Given the description of an element on the screen output the (x, y) to click on. 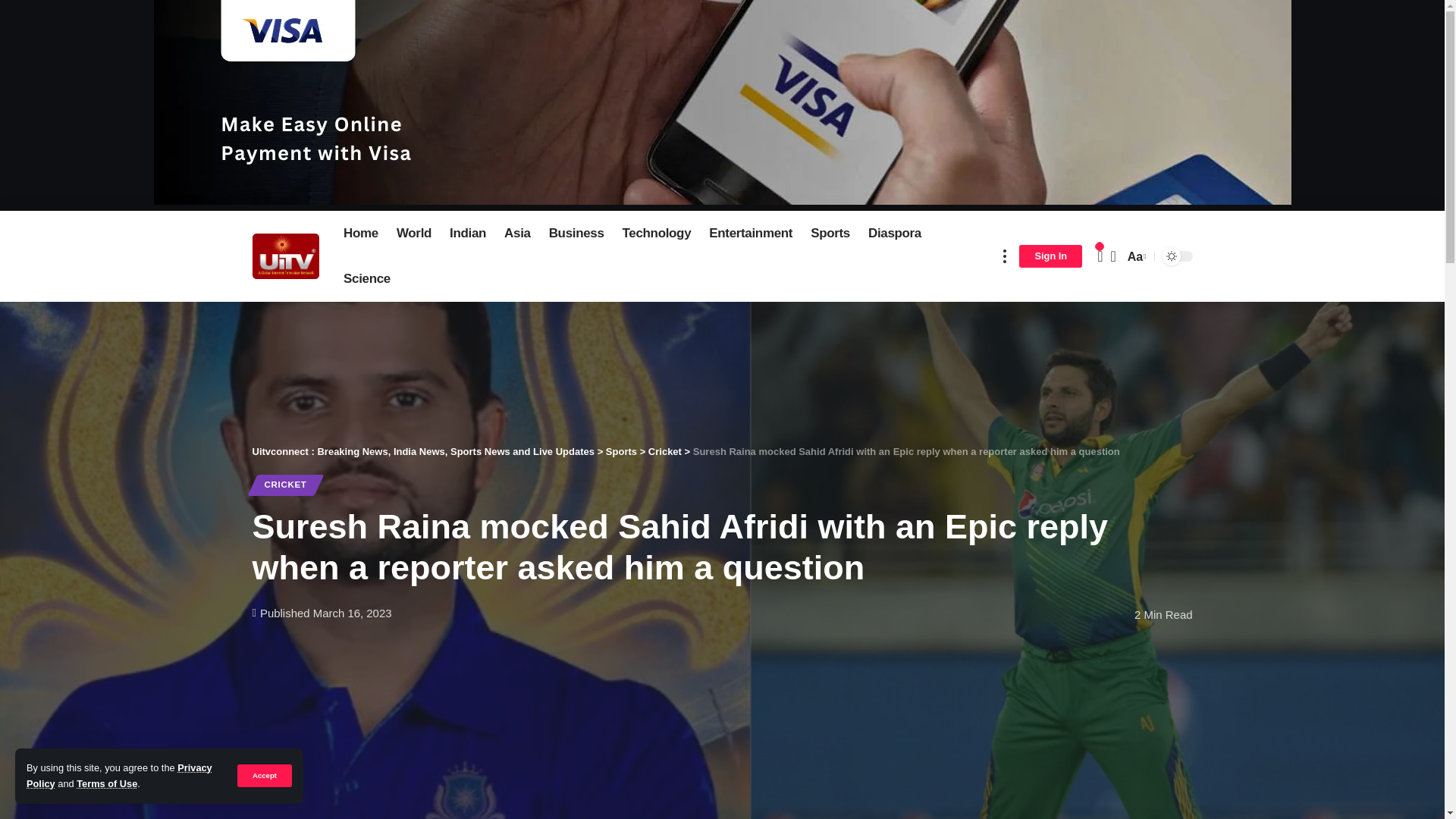
Sports (830, 233)
Business (576, 233)
Entertainment (751, 233)
Accept (264, 775)
Diaspora (894, 233)
Privacy Policy (119, 775)
Terms of Use (106, 783)
Science (366, 279)
Indian (468, 233)
Asia (517, 233)
Go to the Cricket Category archives. (664, 451)
World (414, 233)
Home (360, 233)
